Given the description of an element on the screen output the (x, y) to click on. 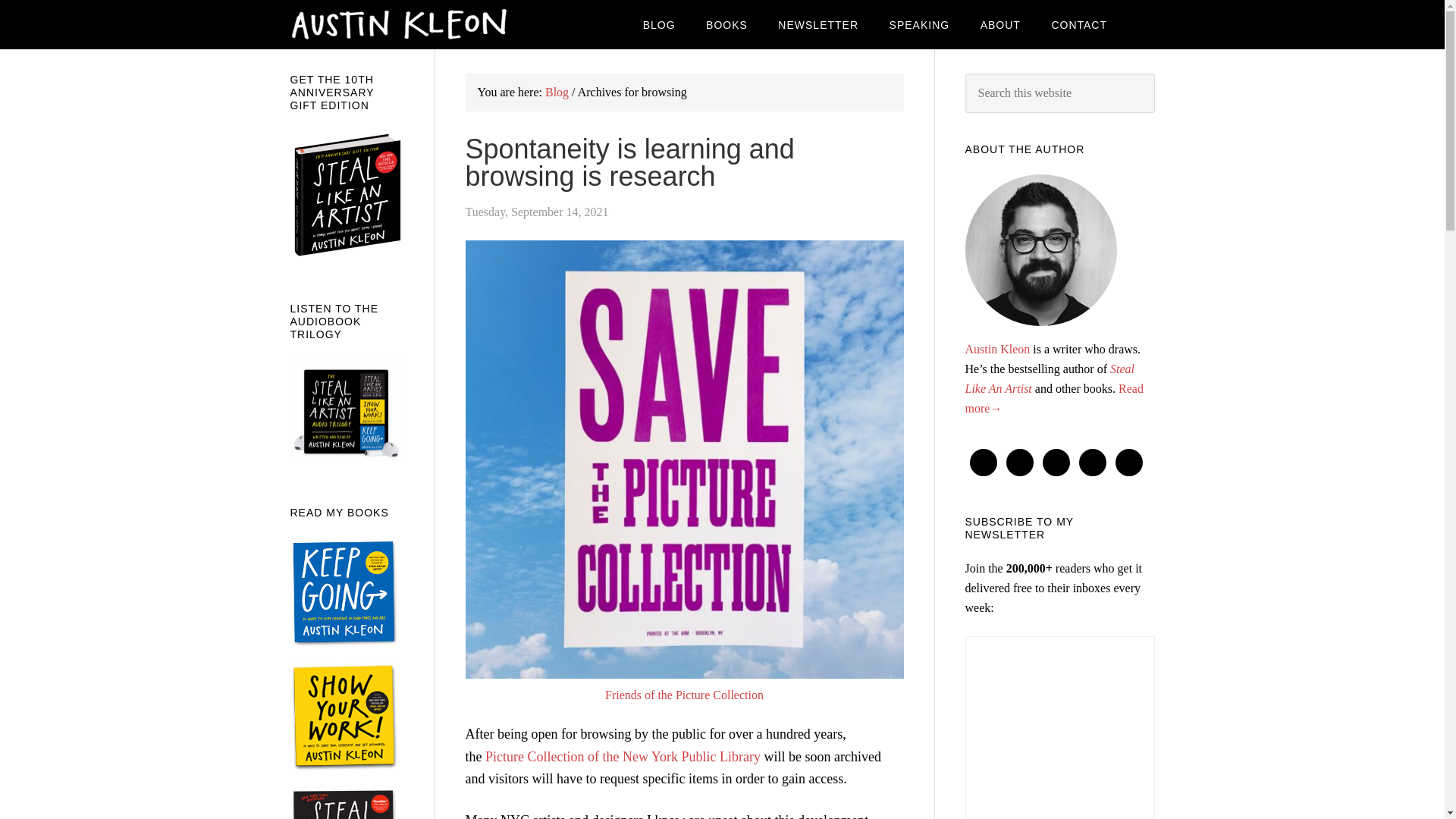
Austin Kleon (996, 349)
Read my books (727, 24)
AUSTIN KLEON (410, 24)
Blog (556, 91)
BOOKS (727, 24)
SPEAKING (919, 24)
Picture Collection of the New York Public Library (622, 756)
Steal Like An Artist (1048, 378)
NEWSLETTER (818, 24)
Spontaneity is learning and browsing is research (629, 162)
BLOG (658, 24)
CONTACT (1078, 24)
